Given the description of an element on the screen output the (x, y) to click on. 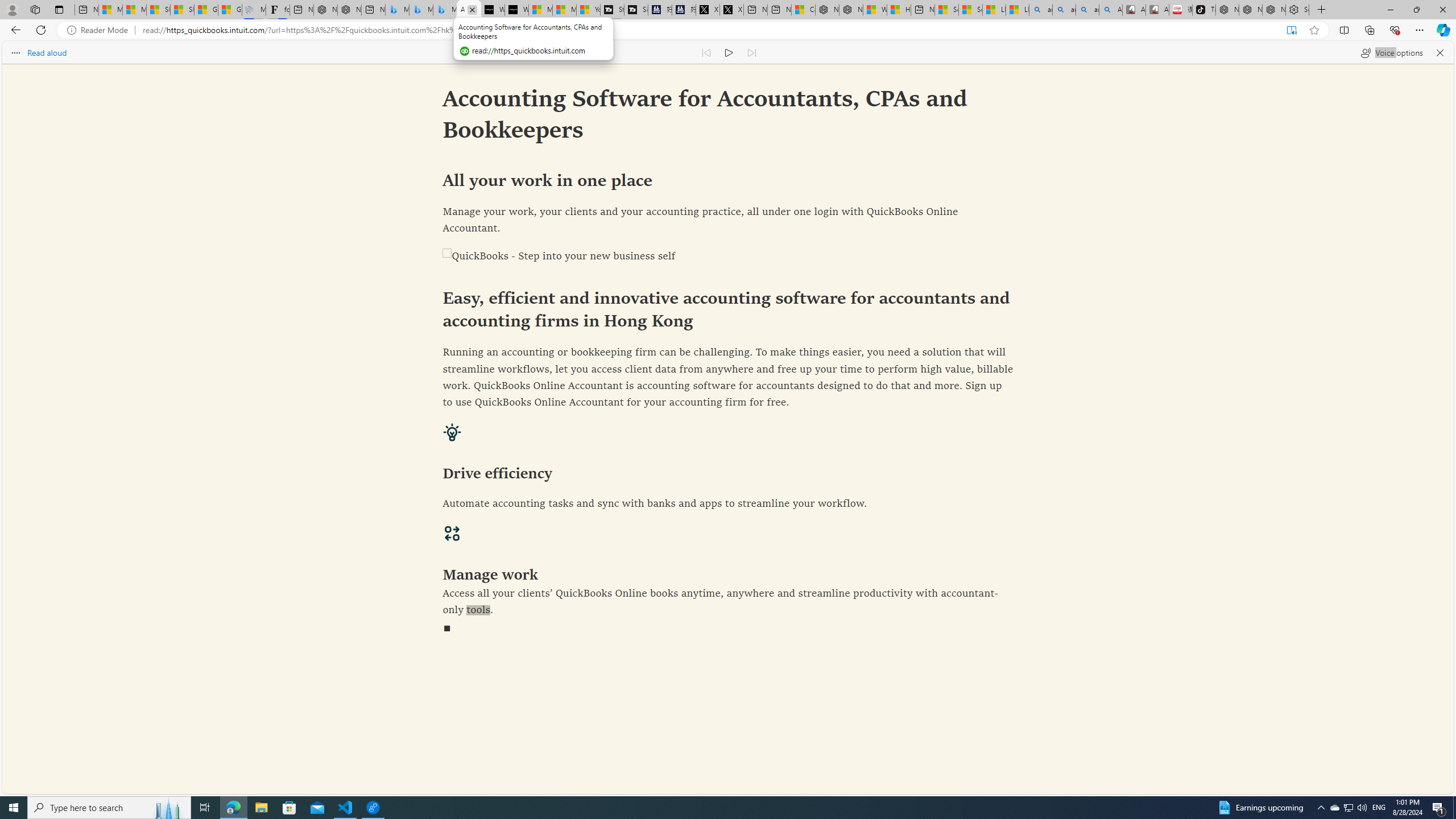
Read next paragraph (751, 52)
Microsoft Bing Travel - Stays in Bangkok, Bangkok, Thailand (421, 9)
Reader Mode (100, 29)
